Given the description of an element on the screen output the (x, y) to click on. 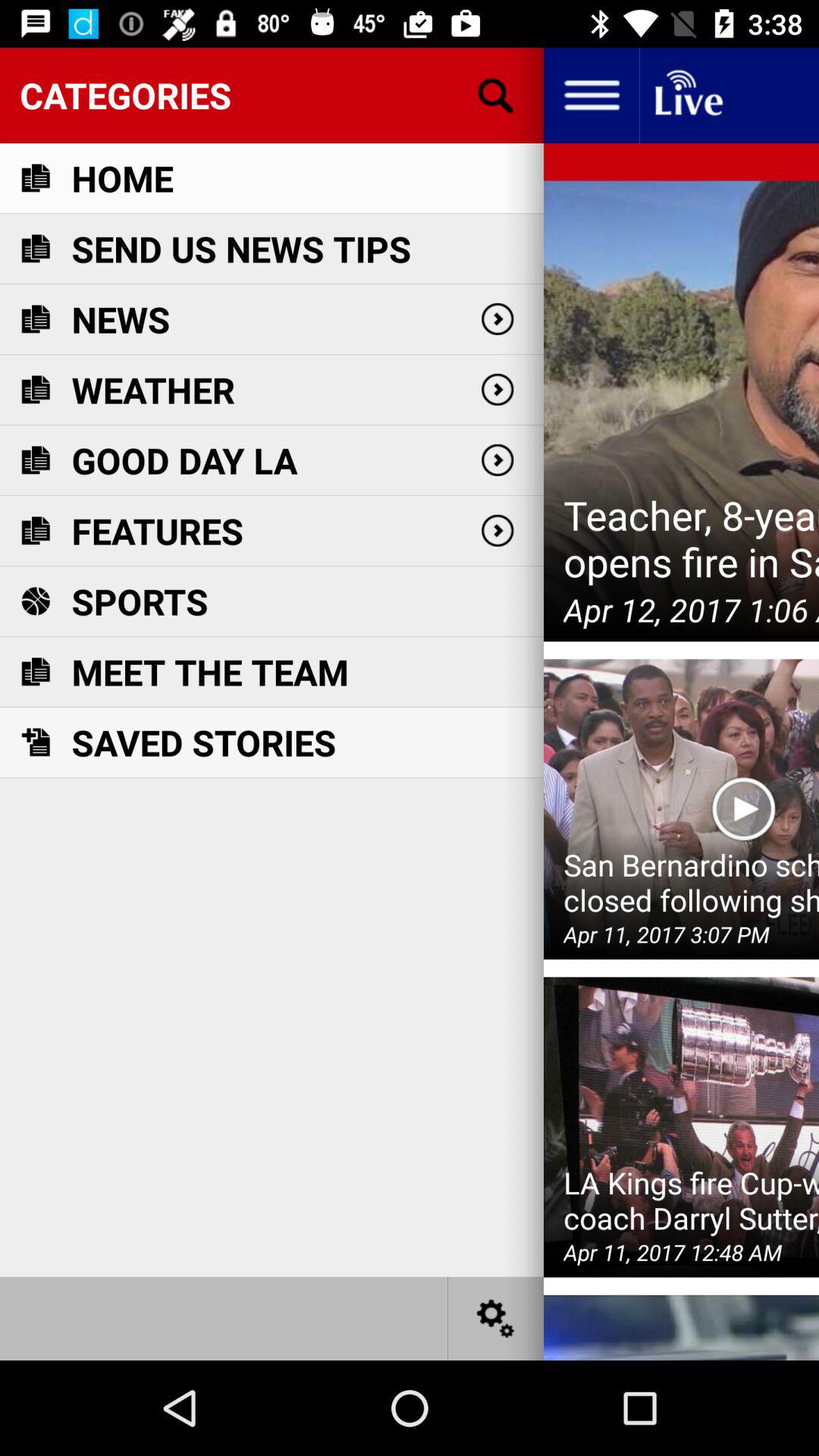
open settings (495, 1318)
